Given the description of an element on the screen output the (x, y) to click on. 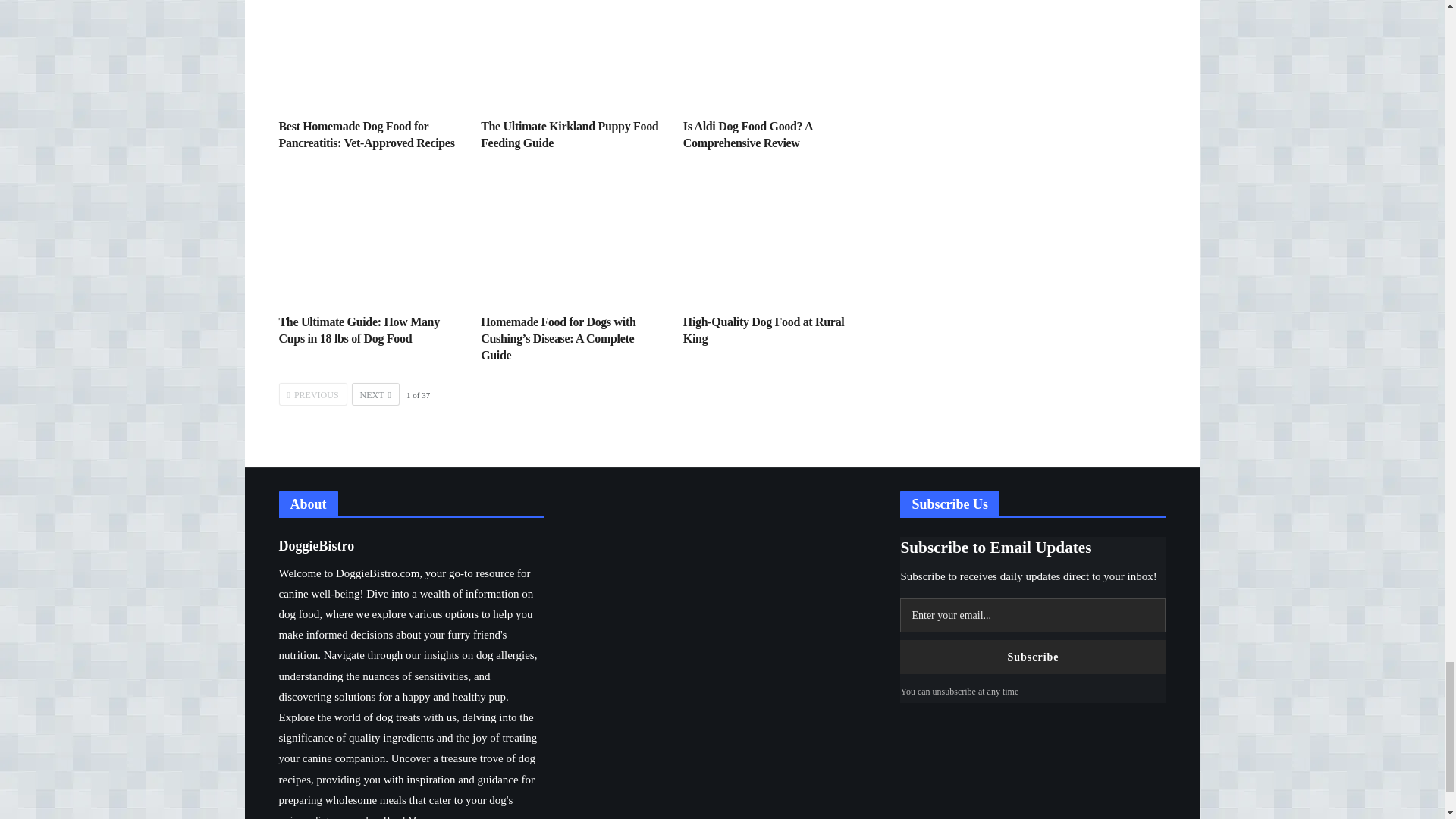
PREVIOUS (313, 394)
The Ultimate Kirkland Puppy Food Feeding Guide (569, 134)
High-Quality Dog Food at Rural King (763, 329)
The Ultimate Guide: How Many Cups in 18 lbs of Dog Food (368, 238)
The Ultimate Guide: How Many Cups in 18 lbs of Dog Food (359, 329)
The Ultimate Kirkland Puppy Food Feeding Guide (570, 53)
The Ultimate Kirkland Puppy Food Feeding Guide (569, 134)
High-Quality Dog Food at Rural King (772, 238)
NEXT (375, 394)
Is Aldi Dog Food Good? A Comprehensive Review (772, 53)
Is Aldi Dog Food Good? A Comprehensive Review (747, 134)
Is Aldi Dog Food Good? A Comprehensive Review (747, 134)
The Ultimate Guide: How Many Cups in 18 lbs of Dog Food (359, 329)
